Given the description of an element on the screen output the (x, y) to click on. 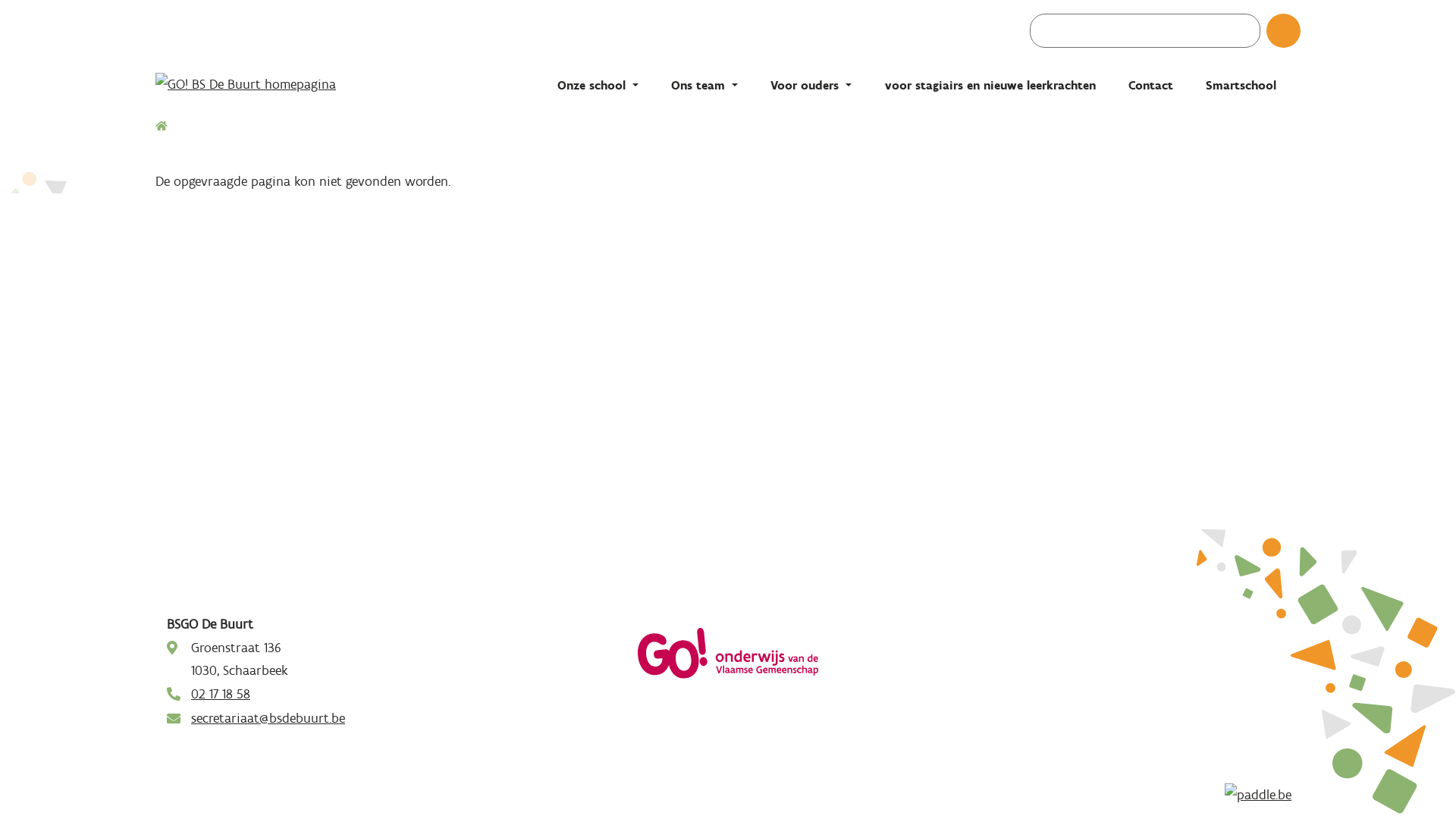
Home Element type: text (162, 126)
Ga naar de homepage Element type: hover (306, 84)
02 17 18 58 Element type: text (220, 693)
Onze school Element type: text (597, 85)
Zoeken Element type: text (1297, 35)
secretariaat@bsdebuurt.be Element type: text (268, 717)
Paddle CMS Platform Element type: hover (1262, 794)
Naar de inhoud Element type: text (0, 0)
Contact Element type: text (1150, 85)
Voor ouders Element type: text (810, 85)
voor stagiairs en nieuwe leerkrachten Element type: text (989, 85)
Ons team Element type: text (703, 85)
Smartschool Element type: text (1240, 85)
